Given the description of an element on the screen output the (x, y) to click on. 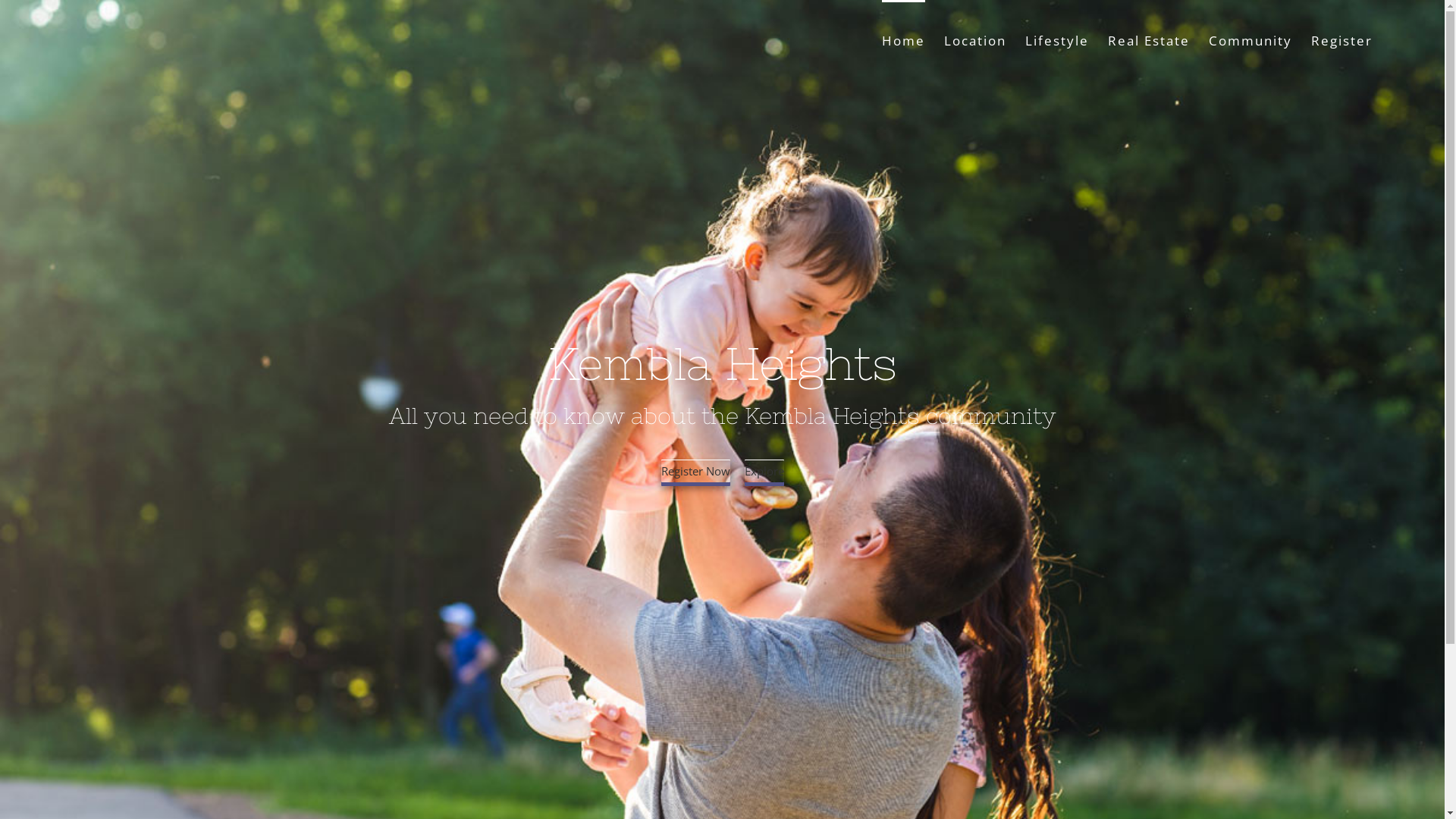
Lifestyle Element type: text (1056, 39)
Explore Element type: text (764, 470)
Location Element type: text (975, 39)
Community Element type: text (1250, 39)
Register Element type: text (1341, 39)
Register Now Element type: text (695, 470)
Real Estate Element type: text (1148, 39)
Home Element type: text (903, 39)
